Given the description of an element on the screen output the (x, y) to click on. 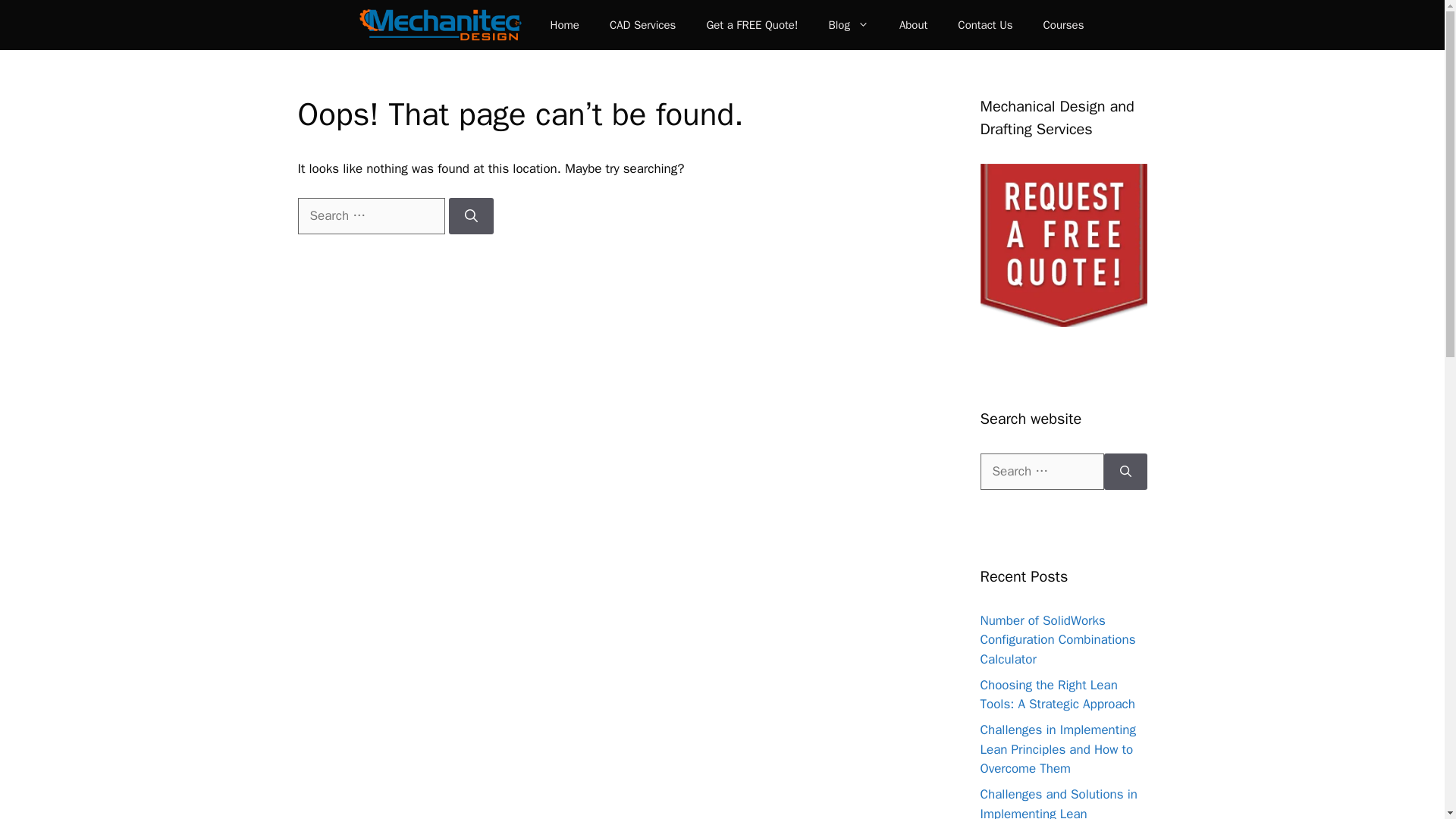
Get a FREE Quote! (751, 24)
Search for: (370, 216)
About (912, 24)
Choosing the Right Lean Tools: A Strategic Approach (1056, 694)
Search for: (1041, 471)
Home (564, 24)
Number of SolidWorks Configuration Combinations Calculator (1057, 639)
Courses (1063, 24)
CAD Services (642, 24)
Contact Us (984, 24)
Mechanitec Design (440, 24)
Blog (847, 24)
